Given the description of an element on the screen output the (x, y) to click on. 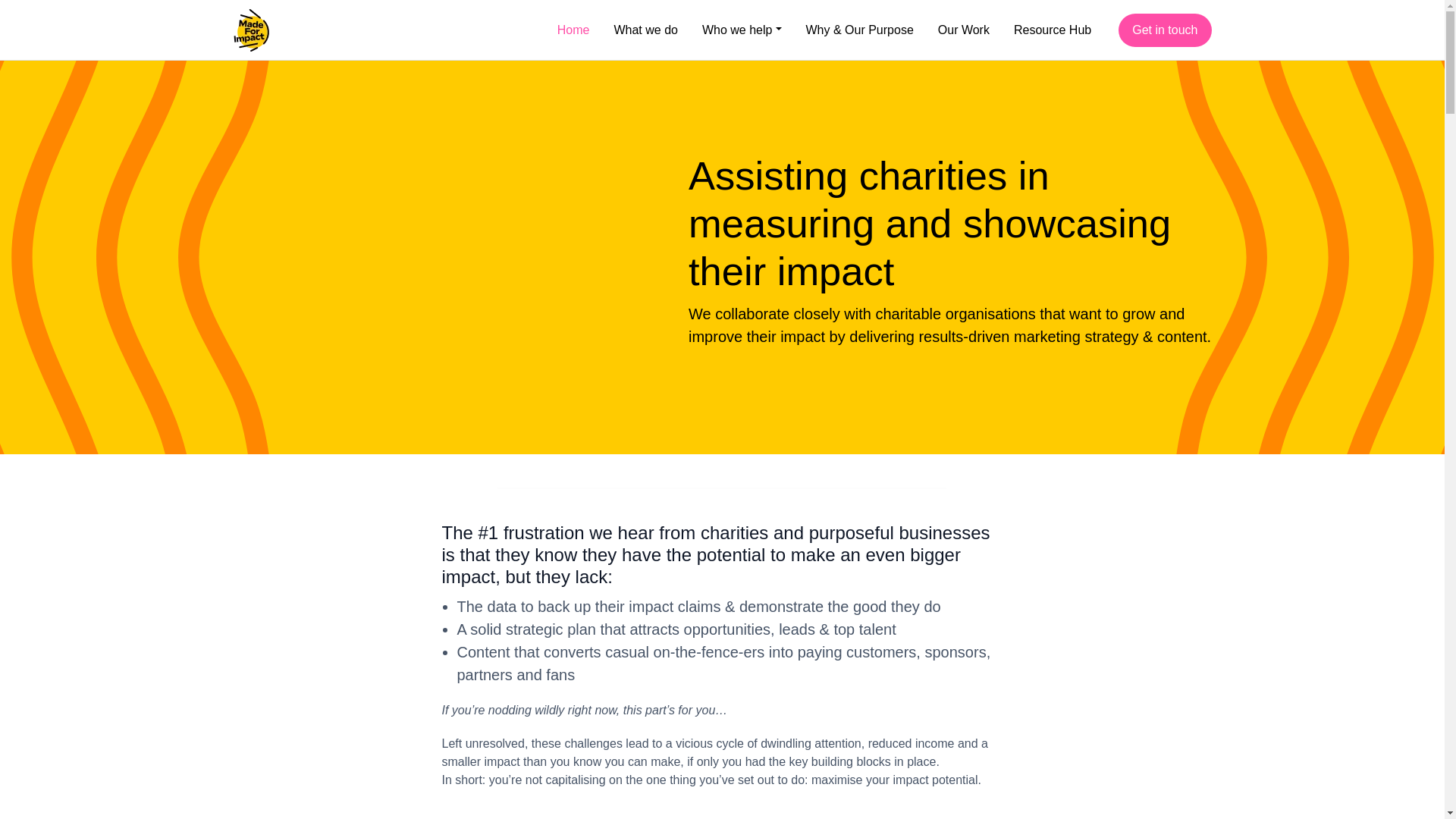
Our Work (963, 29)
Resource Hub (1059, 29)
Get in touch (1164, 29)
What we do (644, 29)
Who we help (741, 29)
Home (573, 29)
